Given the description of an element on the screen output the (x, y) to click on. 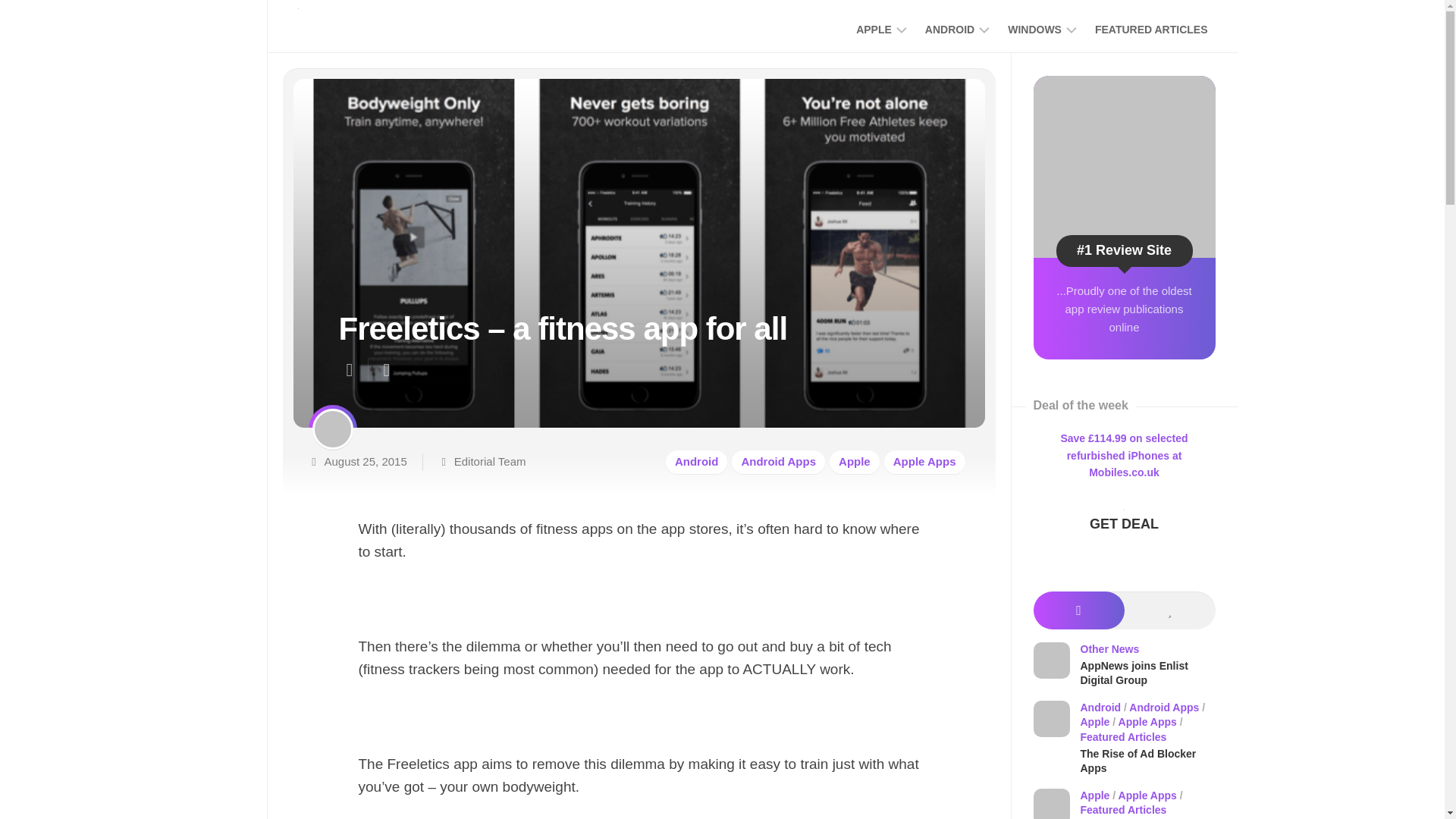
Editorial Team (489, 461)
Apple News (873, 29)
ANDROID (949, 29)
Android Apps (751, 26)
Featured Articles (778, 462)
Windows News (1151, 29)
FEATURED ARTICLES (1034, 29)
Apple (1151, 29)
Android News (854, 462)
Android (949, 29)
APPLE (696, 462)
WINDOWS (873, 29)
Apple Apps (1034, 29)
